Given the description of an element on the screen output the (x, y) to click on. 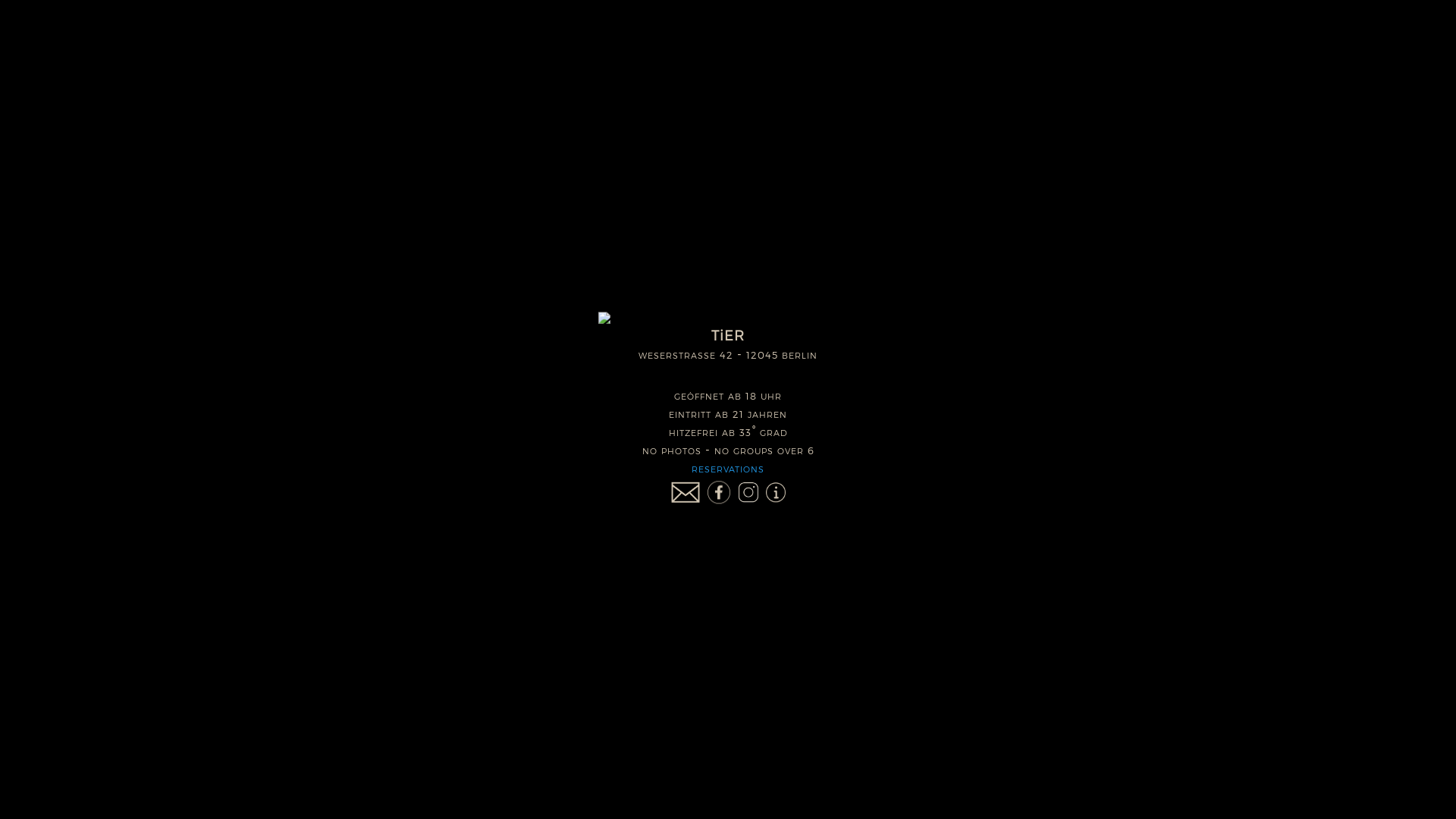
reservations Element type: text (727, 468)
